Given the description of an element on the screen output the (x, y) to click on. 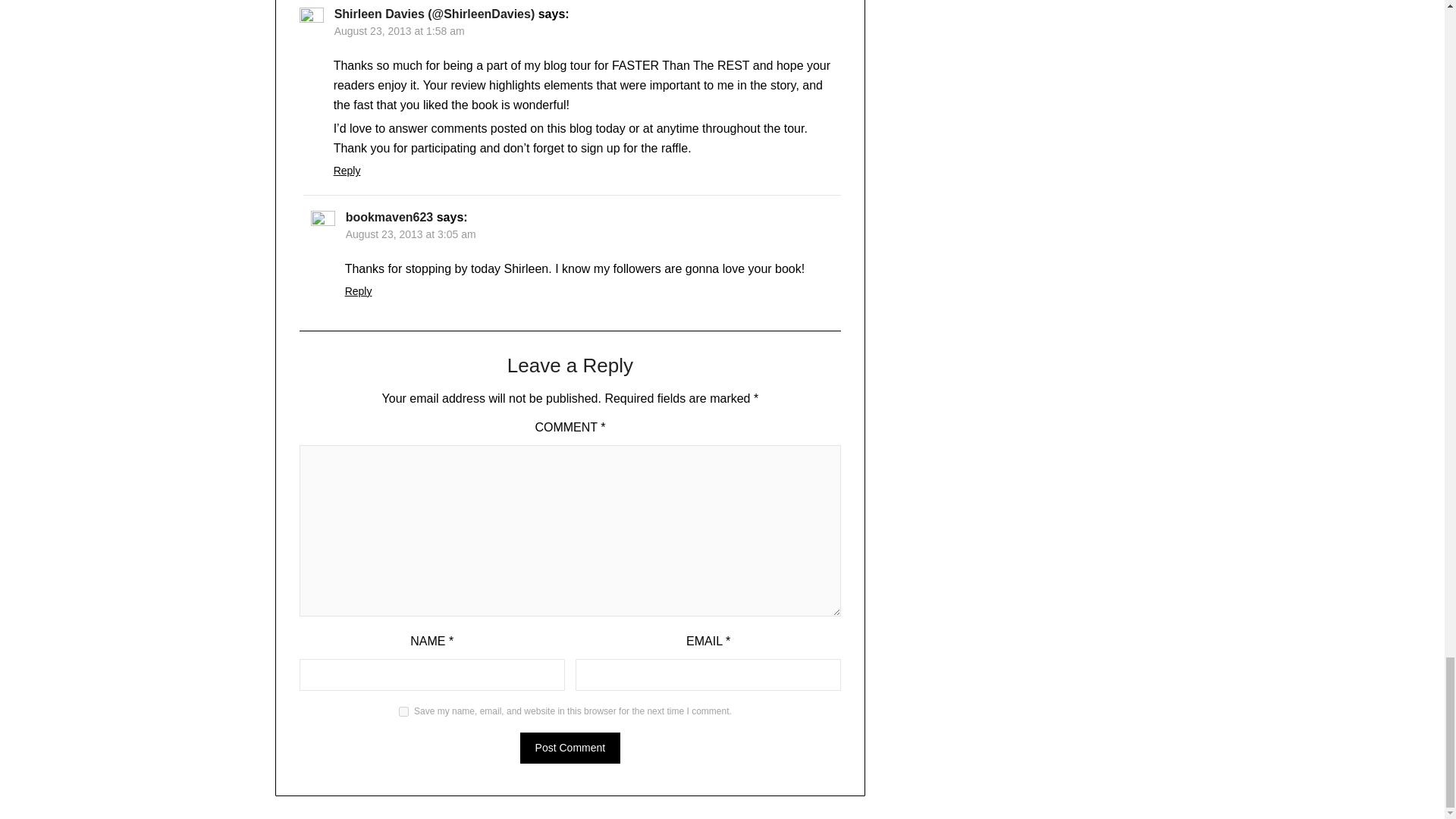
Post Comment (570, 747)
yes (403, 711)
